Given the description of an element on the screen output the (x, y) to click on. 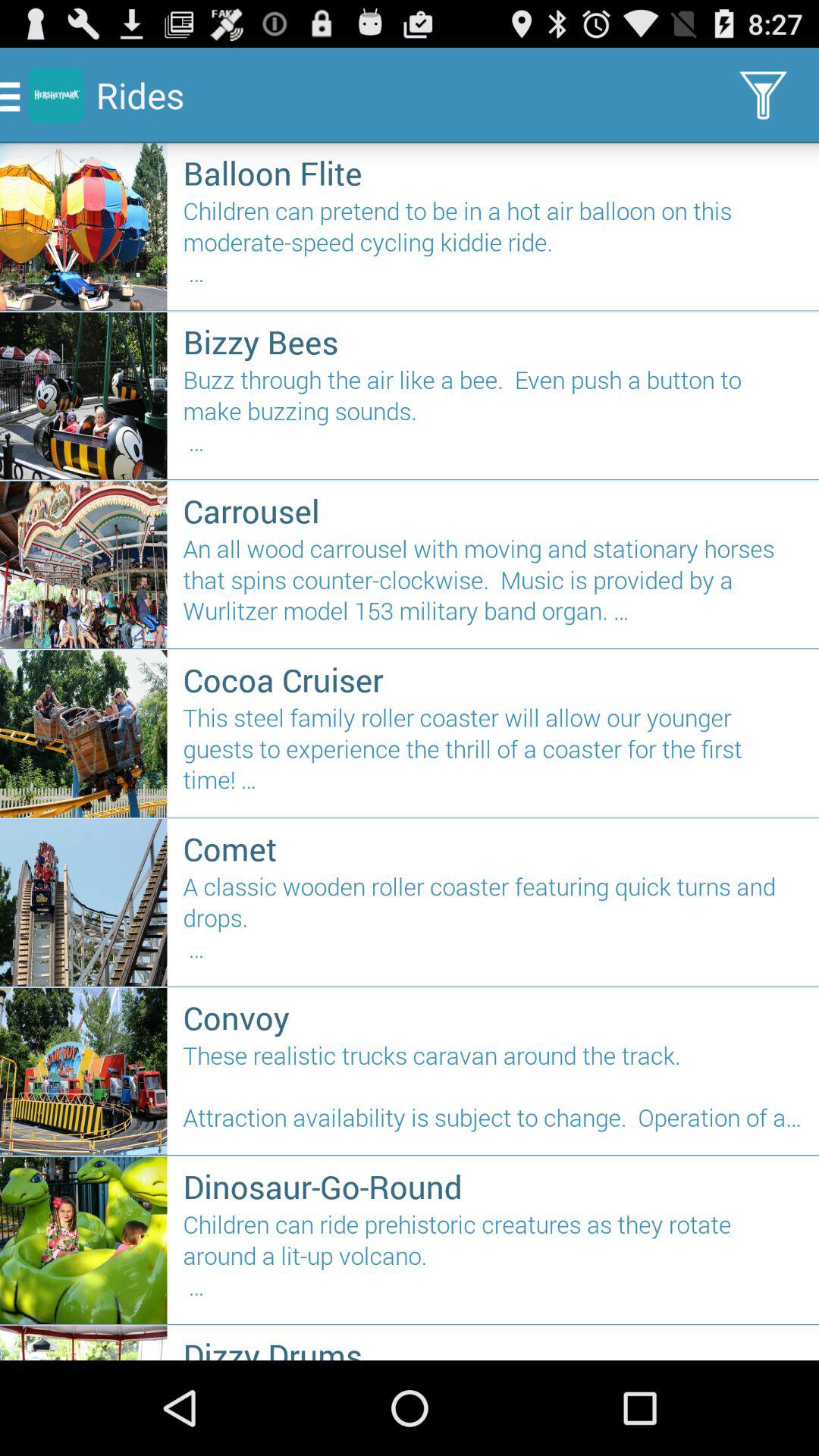
turn on icon above the this steel family (493, 679)
